Given the description of an element on the screen output the (x, y) to click on. 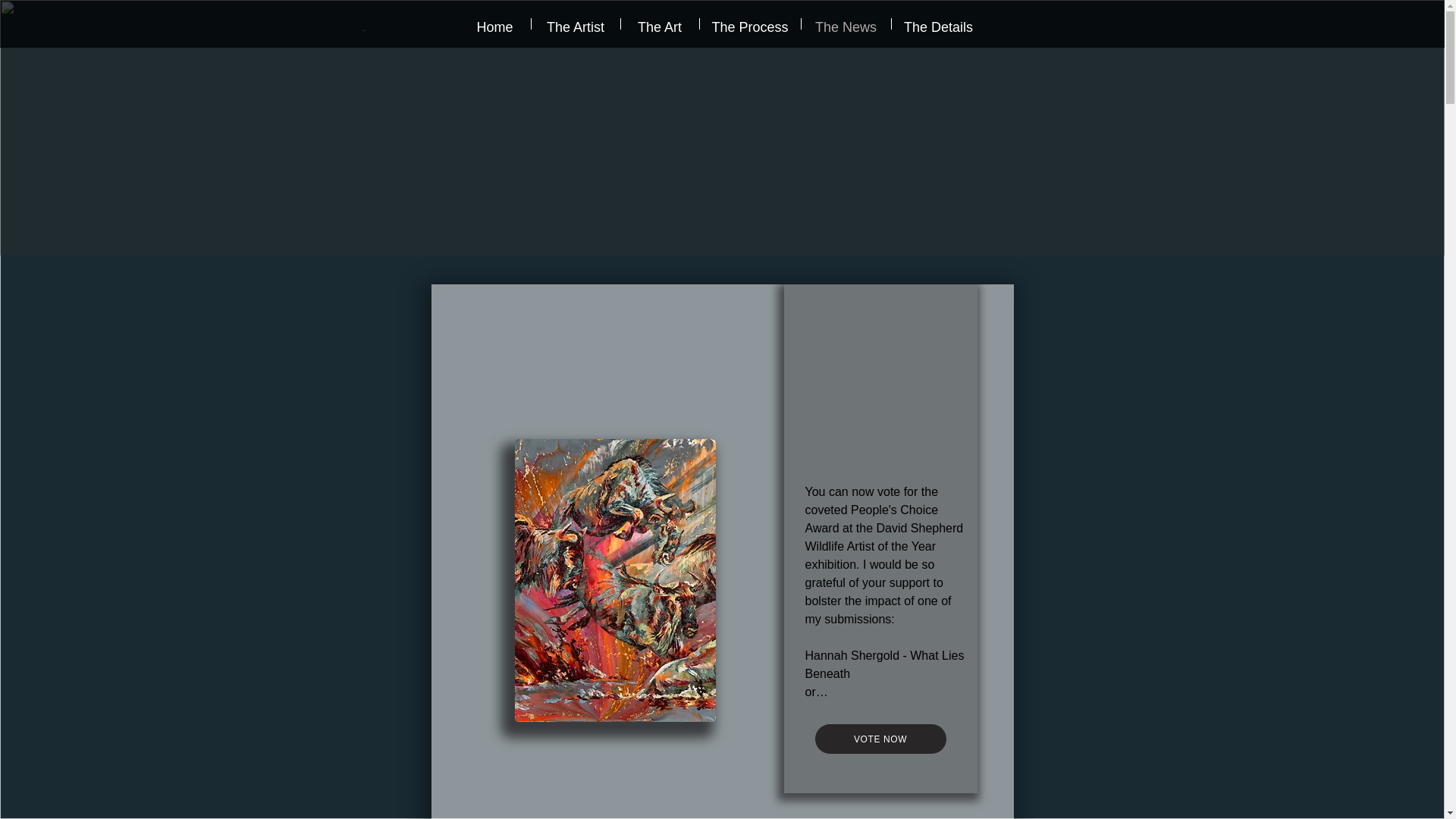
The Art (659, 23)
The News (844, 23)
Home (495, 23)
The Artist (575, 23)
The Process (748, 23)
